Given the description of an element on the screen output the (x, y) to click on. 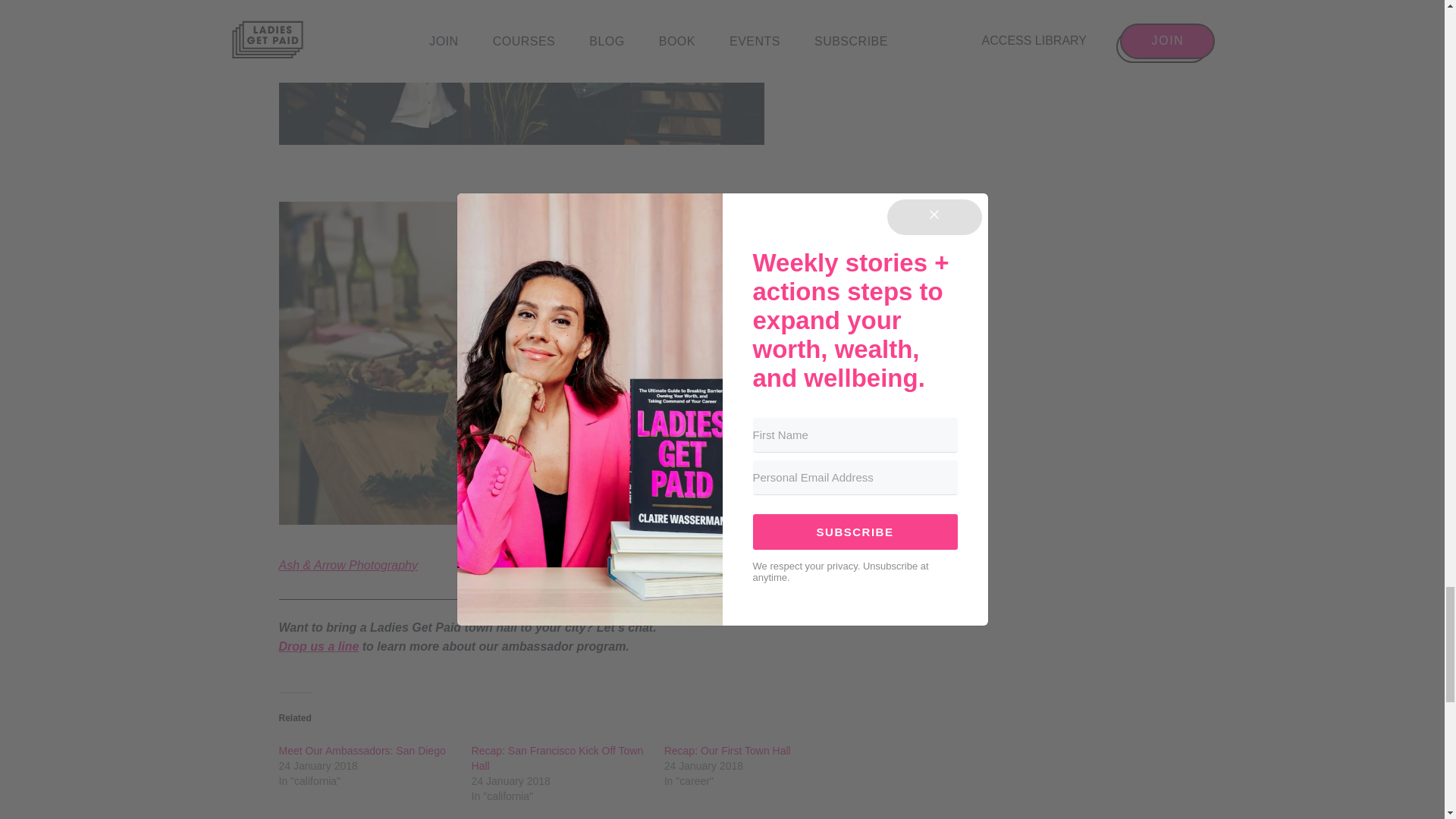
Recap: San Francisco Kick Off Town Hall (557, 758)
Drop us a line (319, 645)
Recap: Our First Town Hall (726, 750)
Meet Our Ambassadors: San Diego (362, 750)
